Given the description of an element on the screen output the (x, y) to click on. 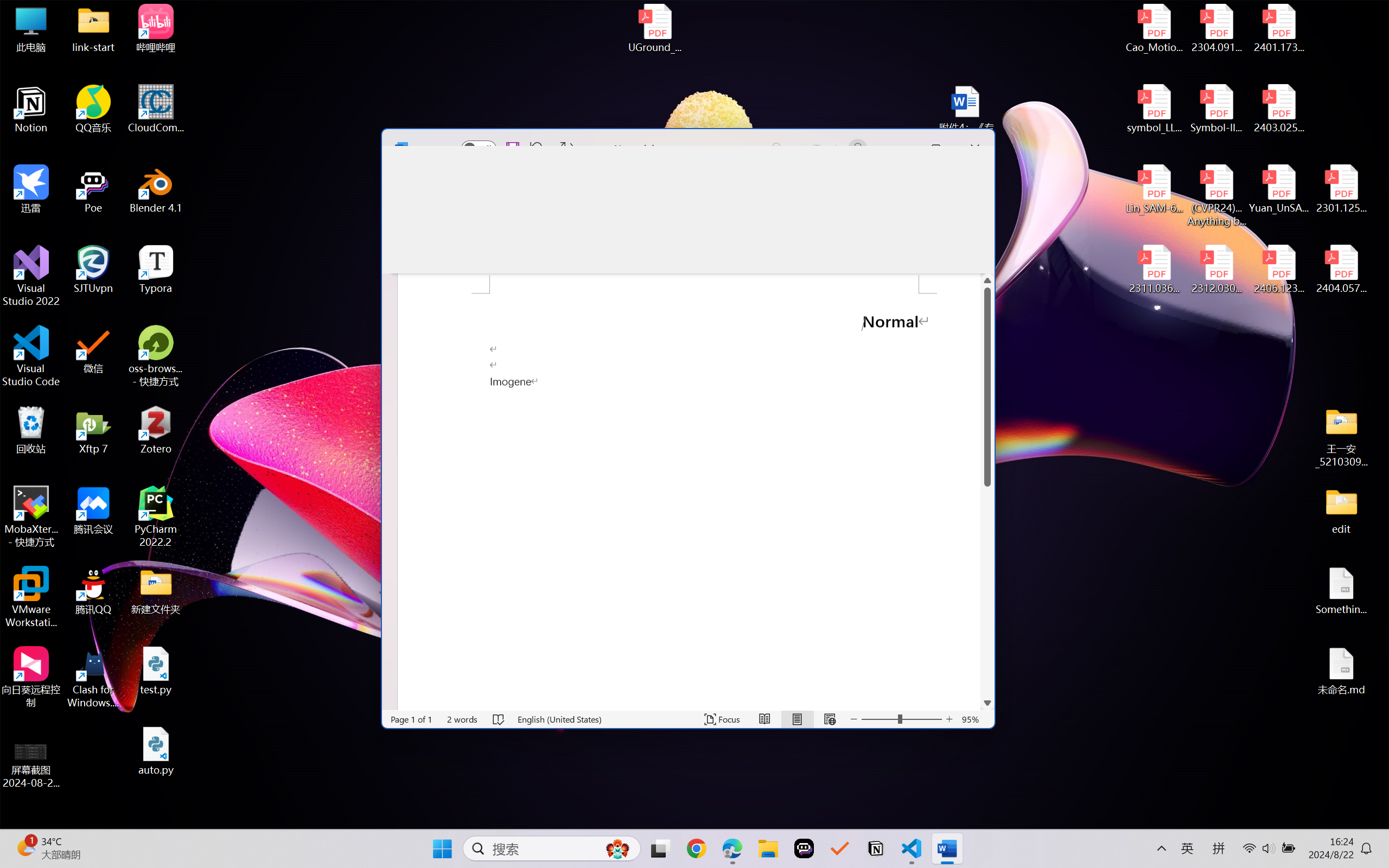
Page 1 content (688, 528)
Blender 4.1 (156, 189)
Ink to Math (899, 226)
2311.03658v2.pdf (1154, 269)
auto.py (156, 751)
CloudCompare (156, 109)
